Given the description of an element on the screen output the (x, y) to click on. 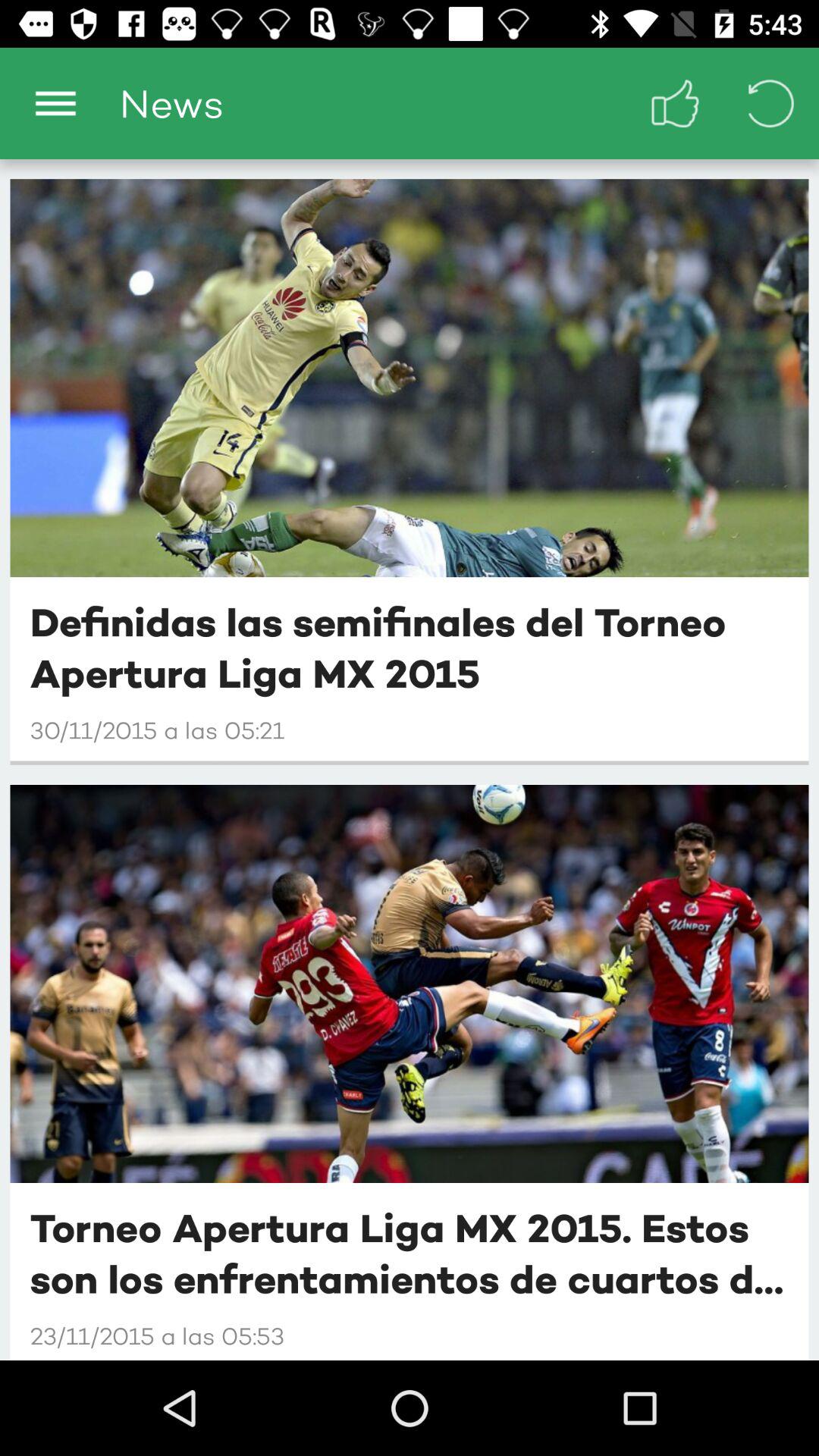
open item to the right of news item (675, 103)
